Given the description of an element on the screen output the (x, y) to click on. 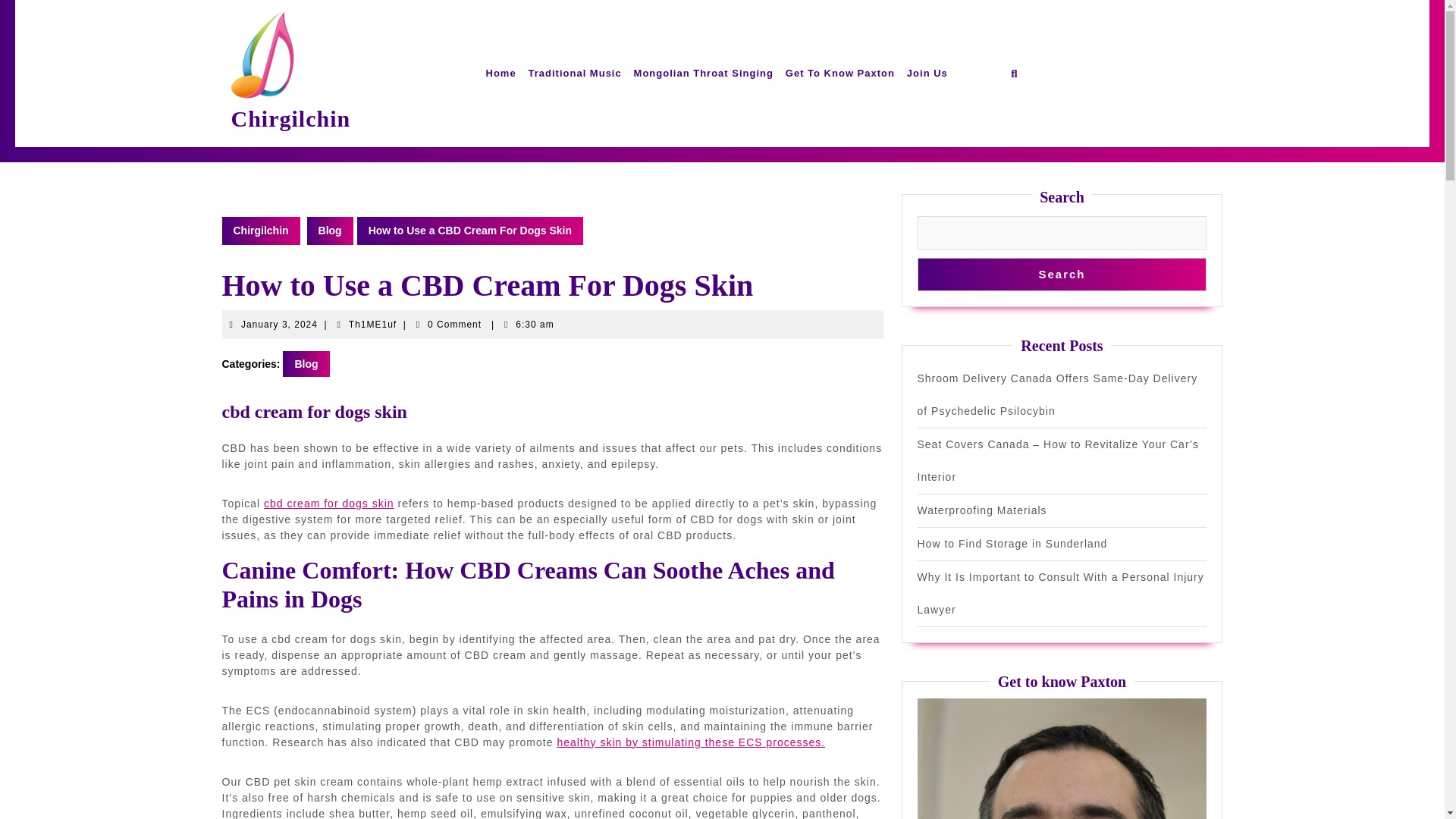
Blog (330, 230)
Search (1062, 274)
Traditional Music (575, 73)
cbd cream for dogs skin (328, 503)
Chirgilchin (260, 230)
Waterproofing Materials (981, 510)
Mongolian Throat Singing (702, 73)
Blog (305, 363)
Join Us (927, 73)
healthy skin by stimulating these ECS processes. (690, 742)
Get To Know Paxton (372, 324)
Chirgilchin (279, 324)
